Given the description of an element on the screen output the (x, y) to click on. 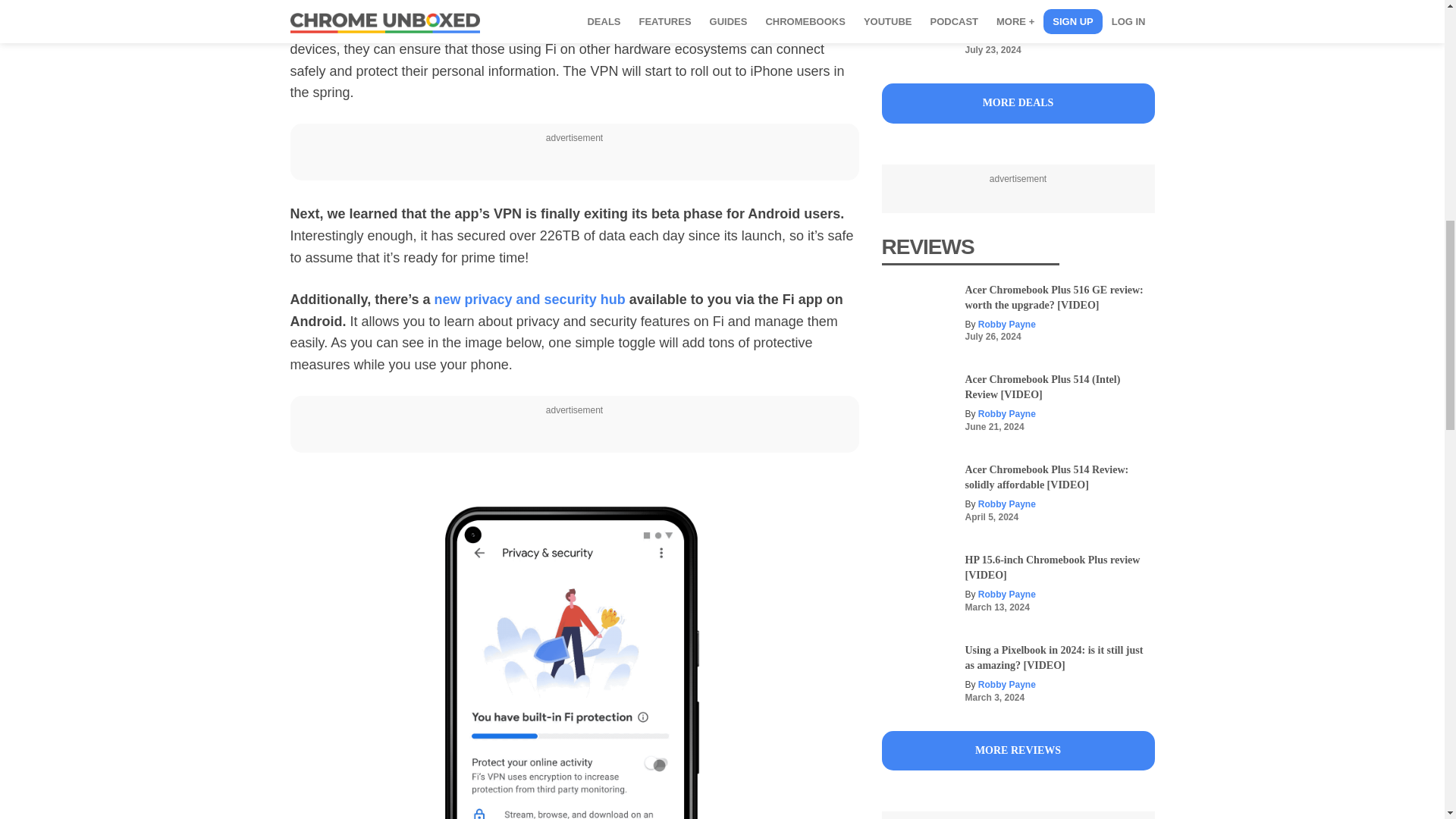
Reviews (1017, 750)
Deals (1017, 102)
